Given the description of an element on the screen output the (x, y) to click on. 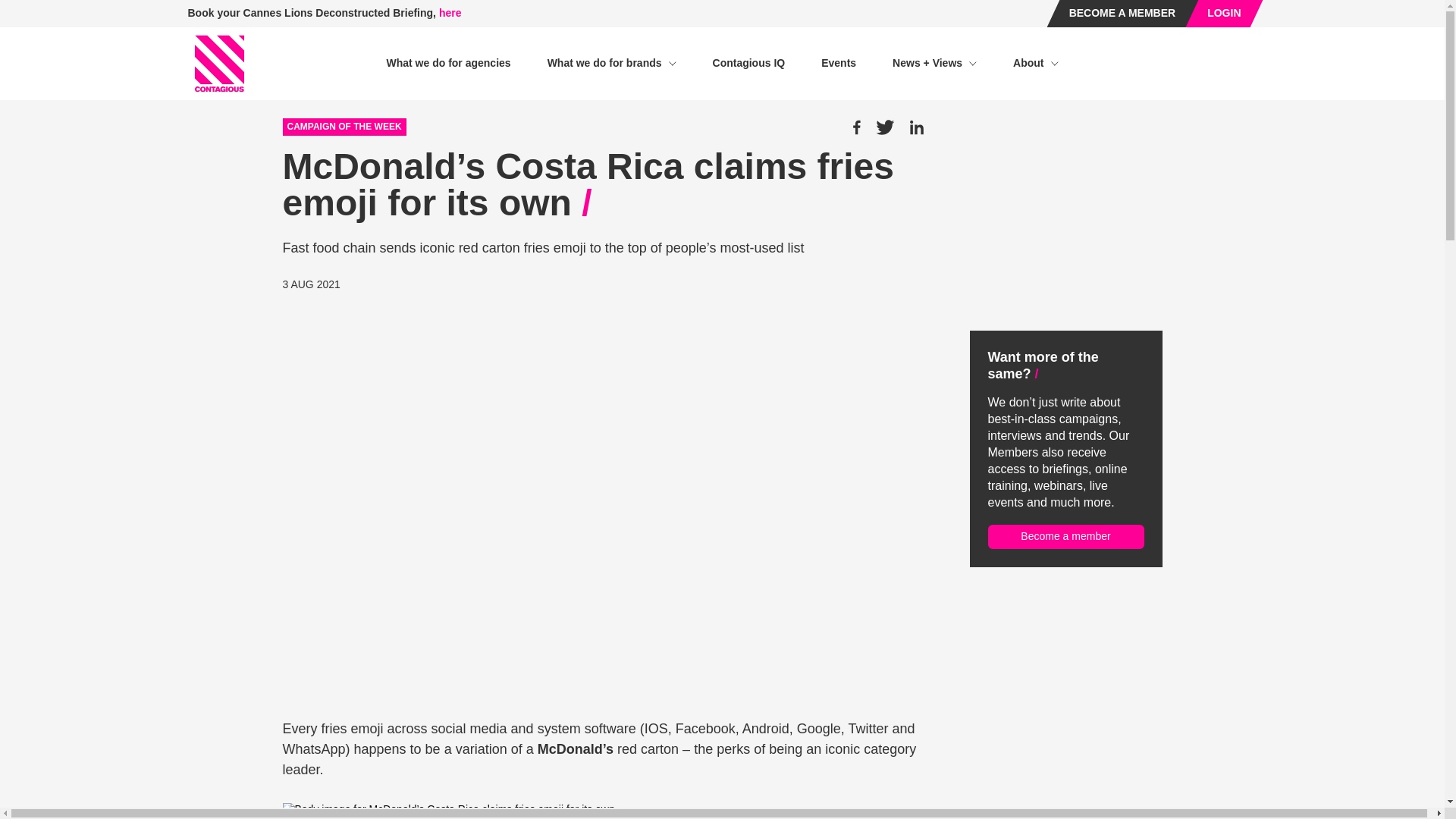
SHARE ON LINKEDIN (915, 127)
SHARE ON TWITTER (885, 127)
What we do for agencies (448, 63)
here (450, 12)
Become a member (1064, 536)
LOGIN (1223, 13)
BECOME A MEMBER (1122, 13)
Contagious IQ (749, 63)
Events (838, 63)
